Given the description of an element on the screen output the (x, y) to click on. 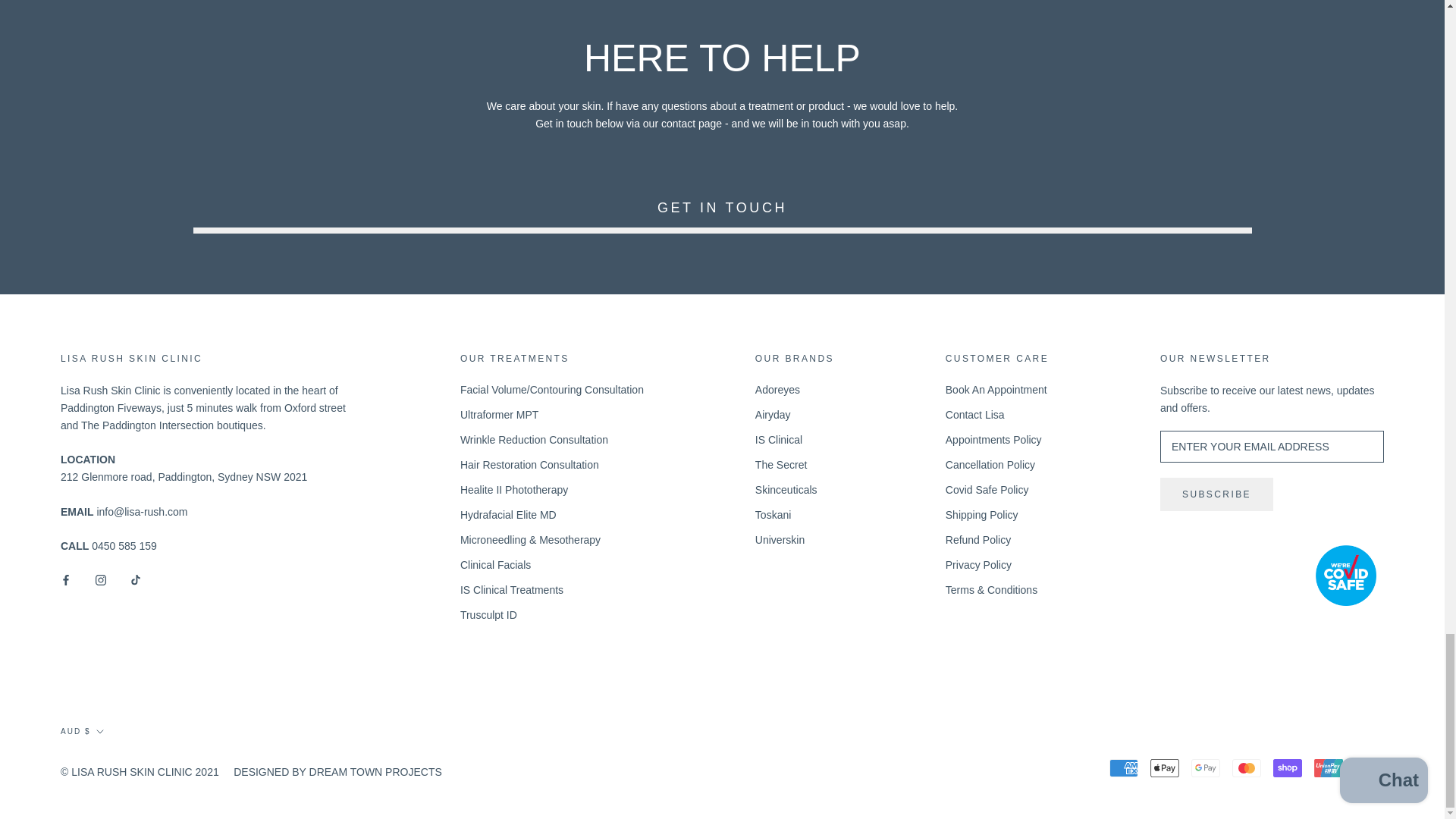
Mastercard (1245, 768)
Visa (1369, 768)
Apple Pay (1164, 768)
Shop Pay (1286, 768)
Google Pay (1205, 768)
Union Pay (1328, 768)
American Express (1123, 768)
